Given the description of an element on the screen output the (x, y) to click on. 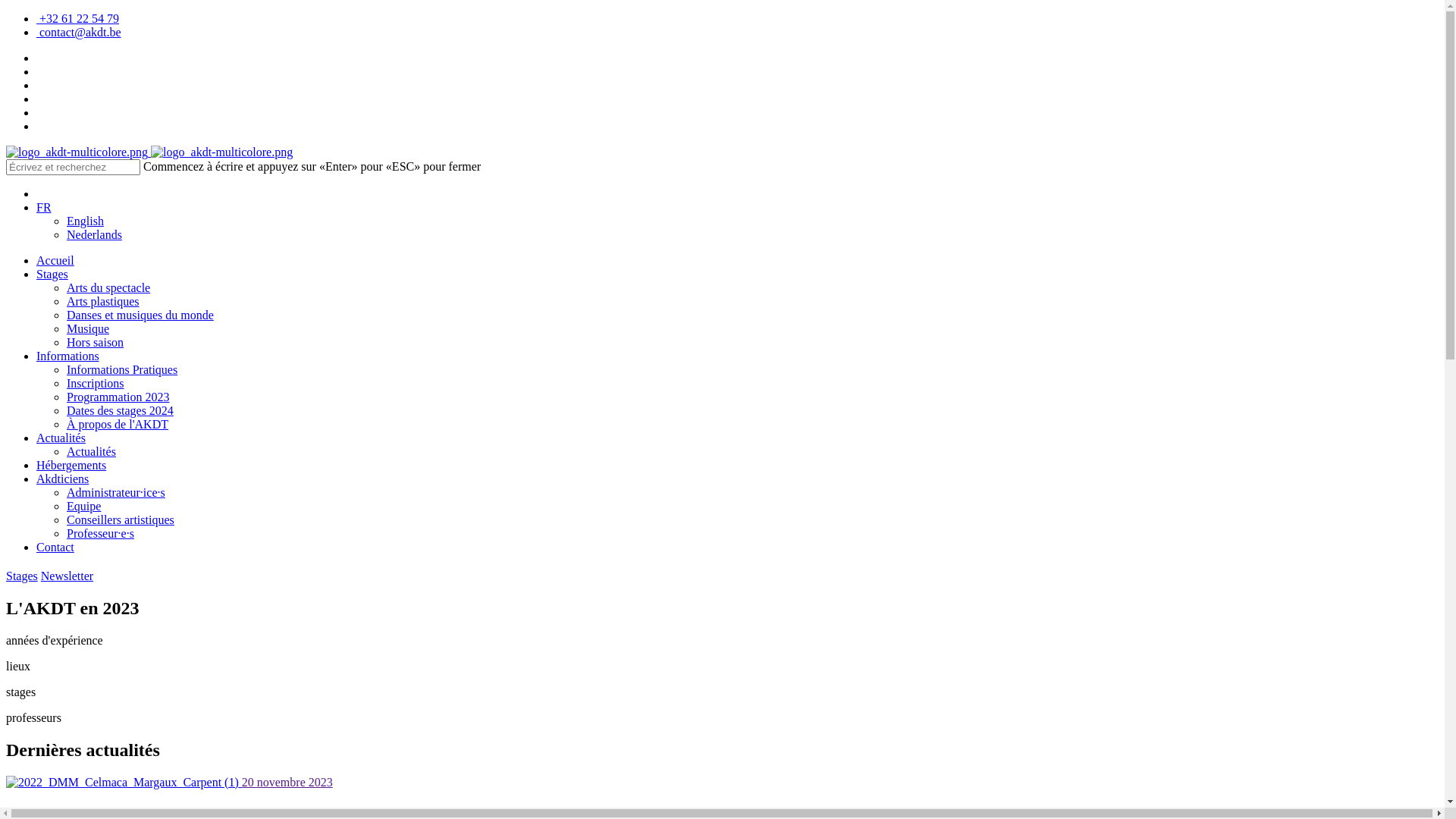
Informations Pratiques Element type: text (121, 369)
Hors saison Element type: text (94, 341)
Arts plastiques Element type: text (102, 300)
Equipe Element type: text (83, 505)
Dates des stages 2024 Element type: text (119, 410)
Informations Element type: text (67, 355)
Conseillers artistiques Element type: text (120, 519)
Arts du spectacle Element type: text (108, 287)
Stages Element type: text (21, 575)
Stages Element type: text (52, 273)
20 novembre 2023 Element type: text (286, 781)
Inscriptions Element type: text (95, 382)
 +32 61 22 54 79 Element type: text (77, 18)
Nederlands Element type: text (94, 234)
FR Element type: text (43, 206)
Contact Element type: text (55, 546)
Akdticiens Element type: text (62, 478)
Danses et musiques du monde Element type: text (139, 314)
Accueil Element type: text (55, 260)
Newsletter Element type: text (66, 575)
 contact@akdt.be Element type: text (78, 31)
Programmation 2023 Element type: text (117, 396)
Musique Element type: text (87, 328)
English Element type: text (84, 220)
